Given the description of an element on the screen output the (x, y) to click on. 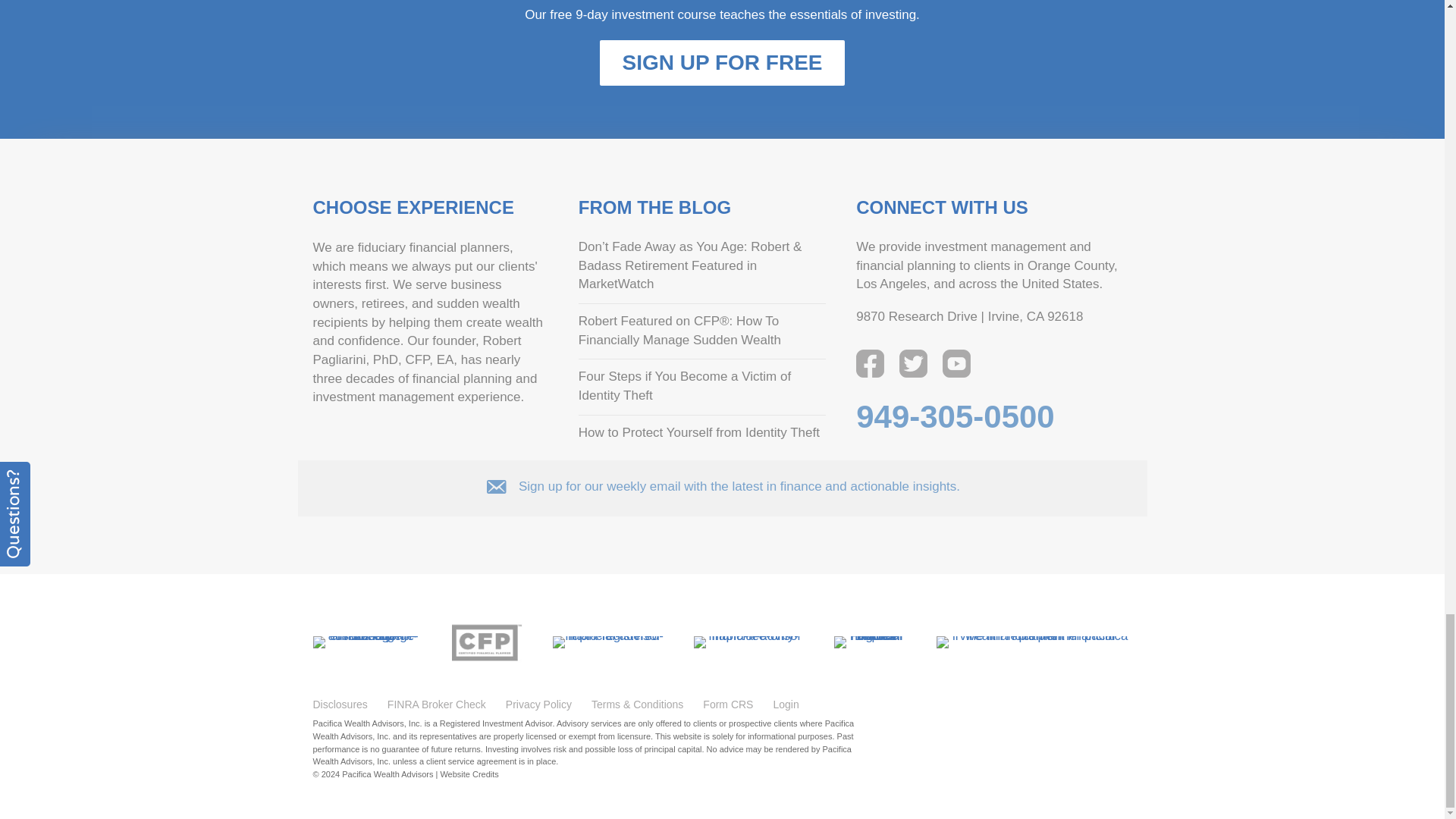
napfa-fee-only-financial-advisor (748, 642)
How to Protect Yourself from Identity Theft (698, 432)
forbes-financial-writer-author (869, 642)
certified-financial-planner-robert-pagliarini (486, 641)
napfa-registered-financial-advisor (607, 642)
Four Steps if You Become a Victim of Identity Theft (684, 385)
enrolled-agent-irs-tax-agent-financial-advisor-orange-county (366, 642)
